Given the description of an element on the screen output the (x, y) to click on. 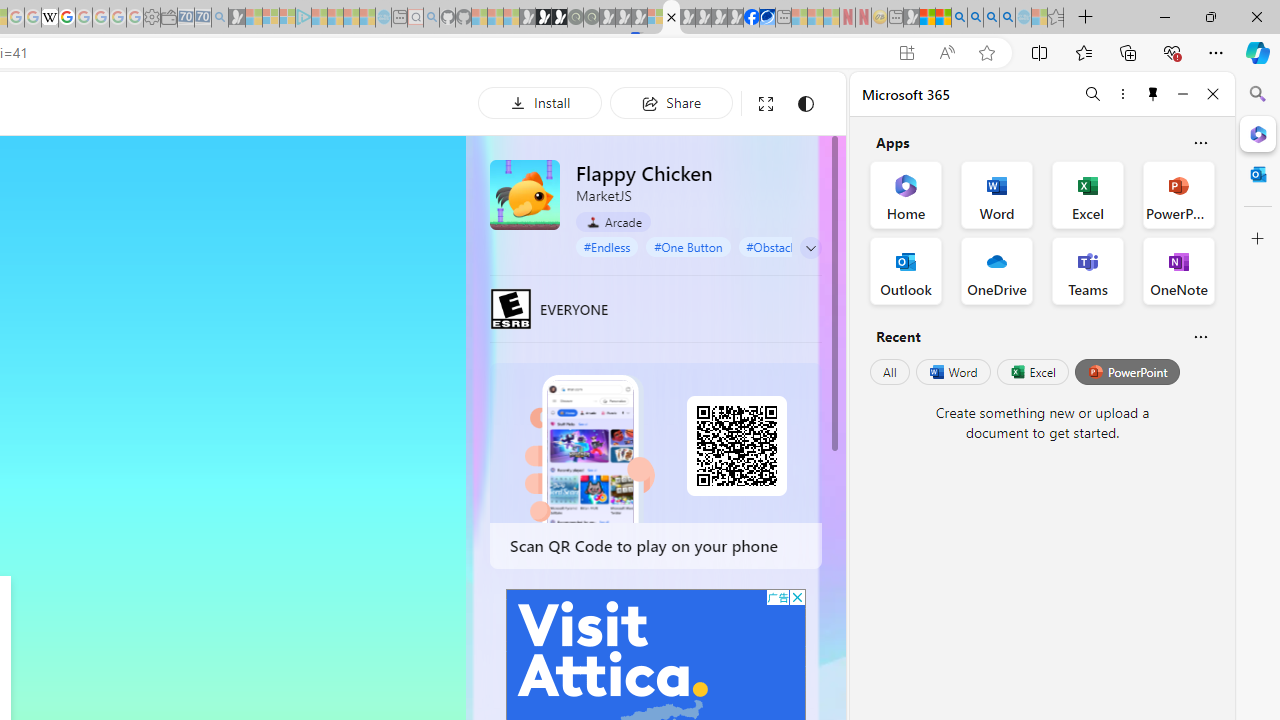
Home Office App (906, 194)
Teams Office App (1087, 270)
Google Chrome Internet Browser Download - Search Images (1007, 17)
Excel Office App (1087, 194)
PowerPoint (1127, 372)
Unpin side pane (1153, 93)
Change to dark mode (805, 103)
Bing Real Estate - Home sales and rental listings - Sleeping (219, 17)
#One Button (688, 246)
